Given the description of an element on the screen output the (x, y) to click on. 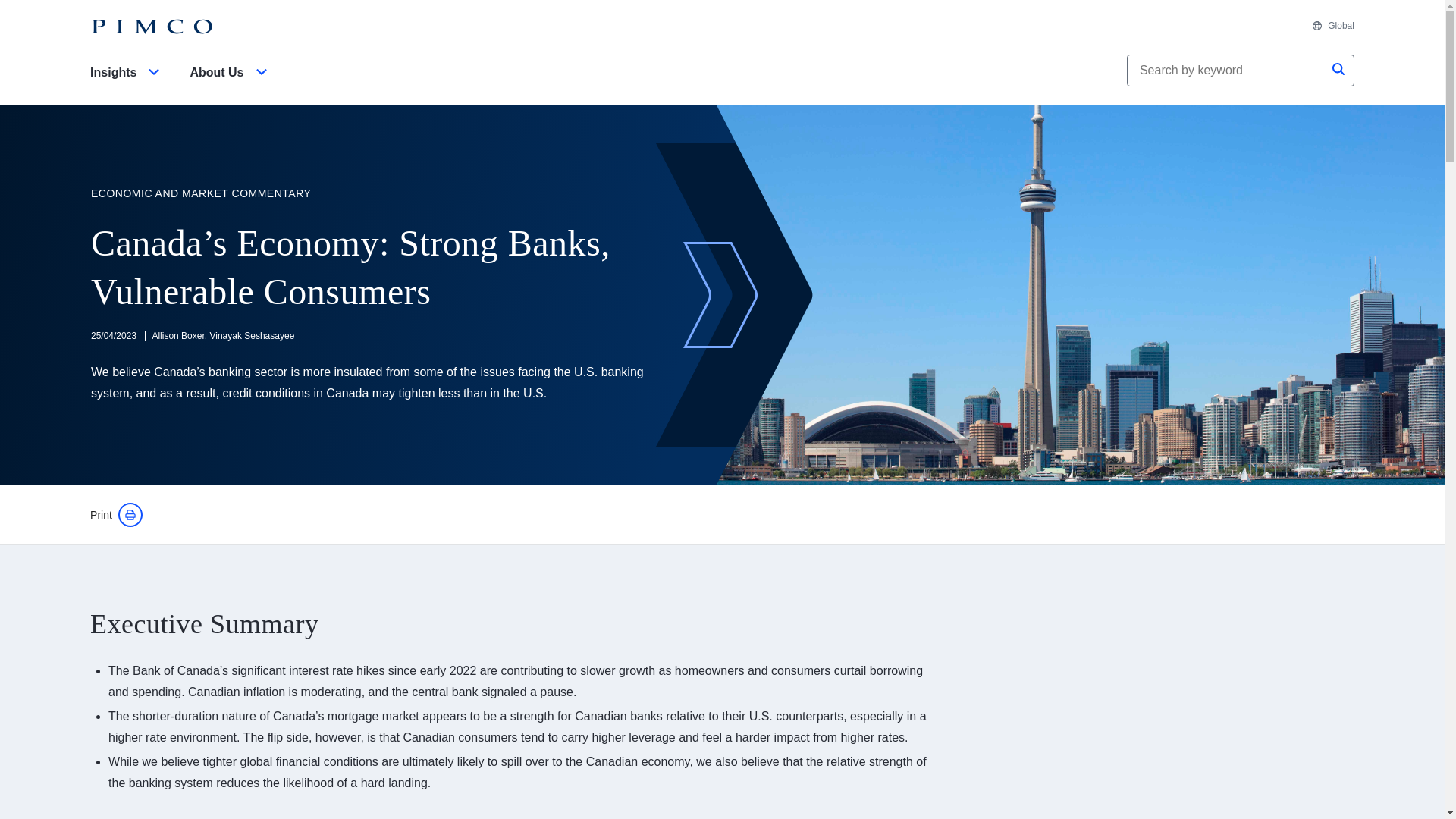
PIMCO Home (151, 27)
Insert a query. Press enter to send (1226, 70)
Insights (127, 84)
Global (1333, 25)
Print (116, 514)
About Us (230, 84)
